Given the description of an element on the screen output the (x, y) to click on. 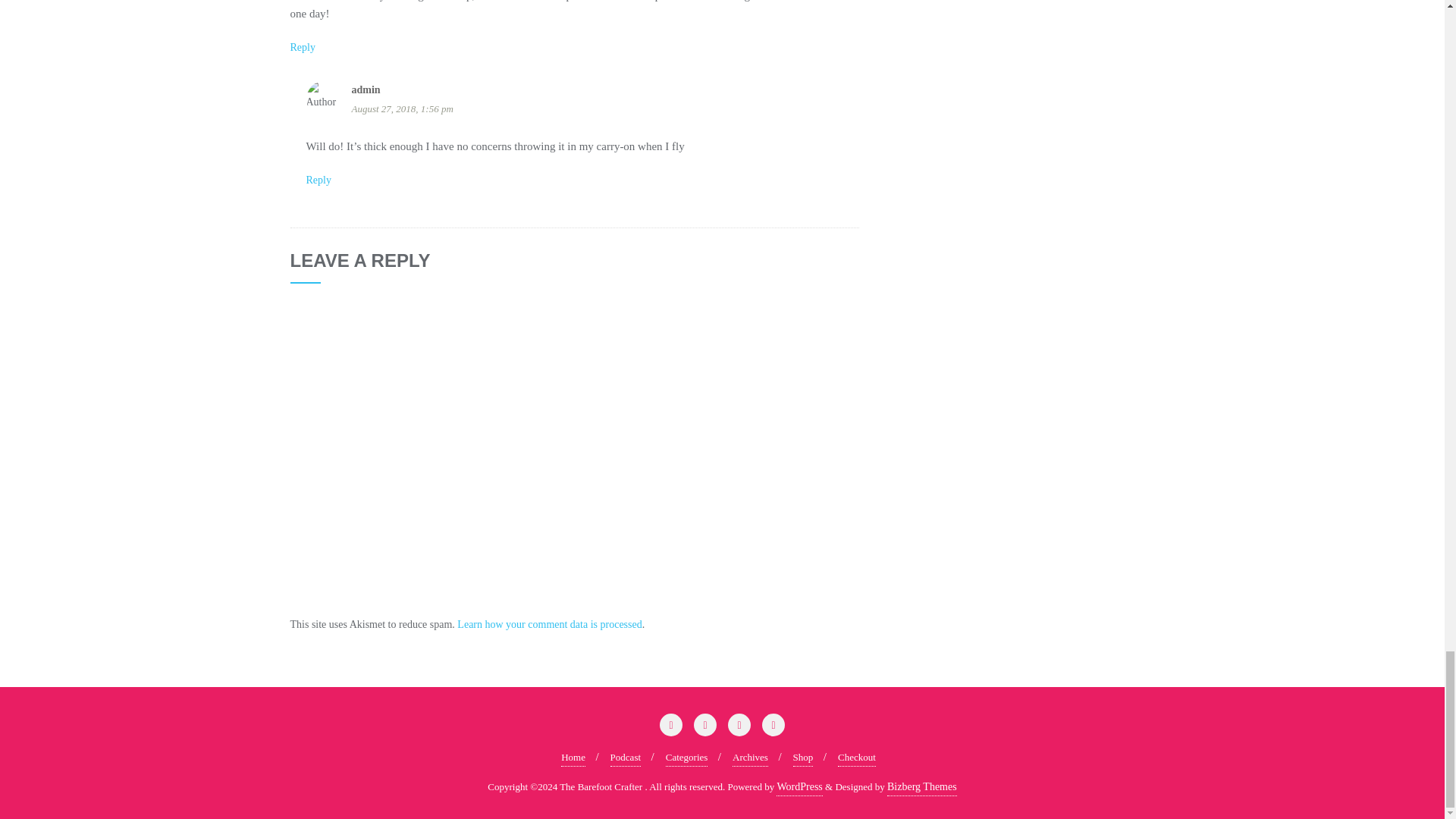
admin (366, 89)
August 27, 2018, 1:56 pm (605, 108)
Reply (318, 179)
Reply (301, 47)
